Given the description of an element on the screen output the (x, y) to click on. 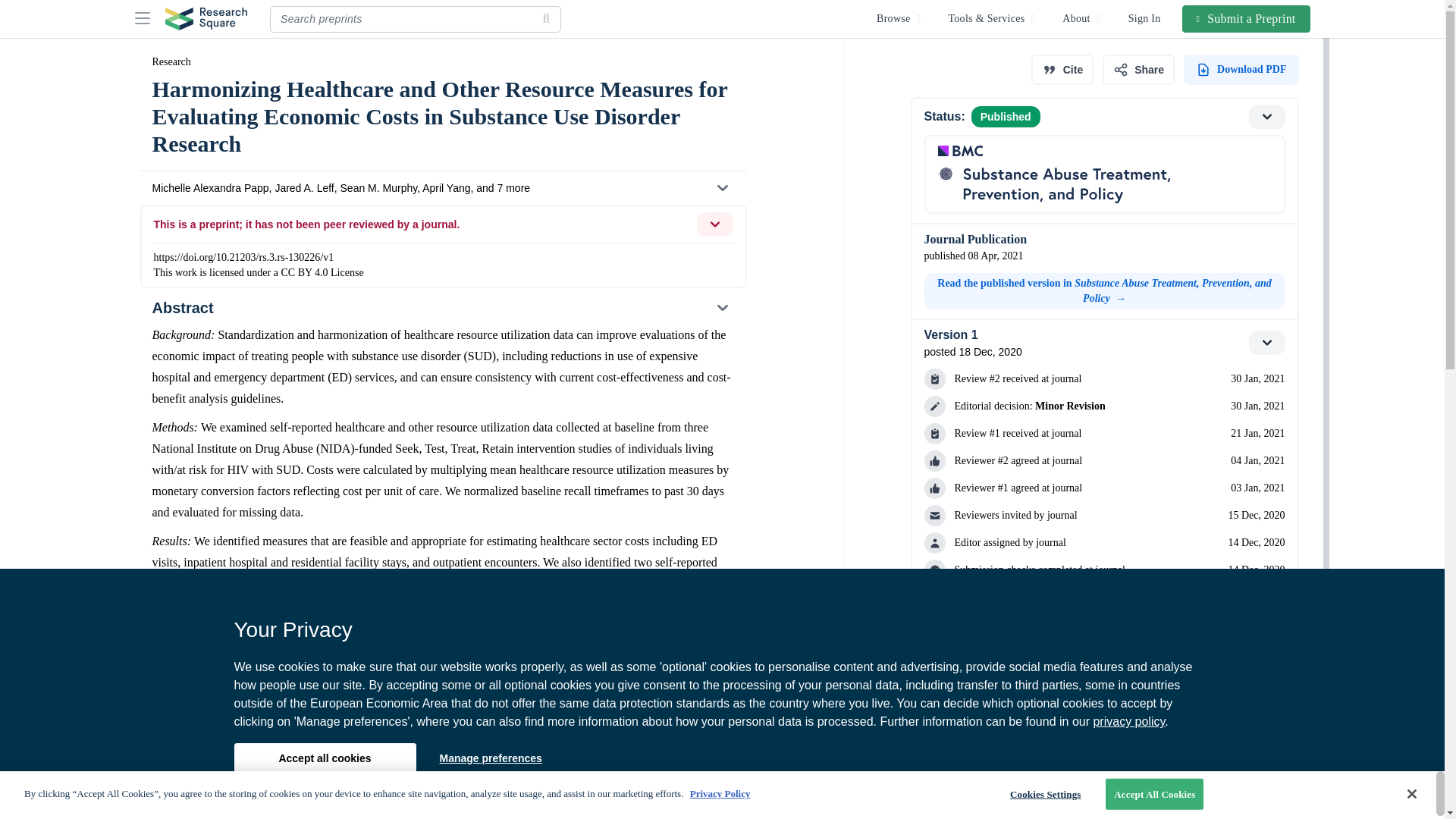
Sign In (1144, 18)
Background (442, 808)
Other Public Policy (205, 707)
privacy policy (1128, 721)
Accept all cookies (323, 757)
Manage preferences (490, 757)
Figures (442, 779)
Abstract (442, 307)
Submit a Preprint (1246, 18)
